Given the description of an element on the screen output the (x, y) to click on. 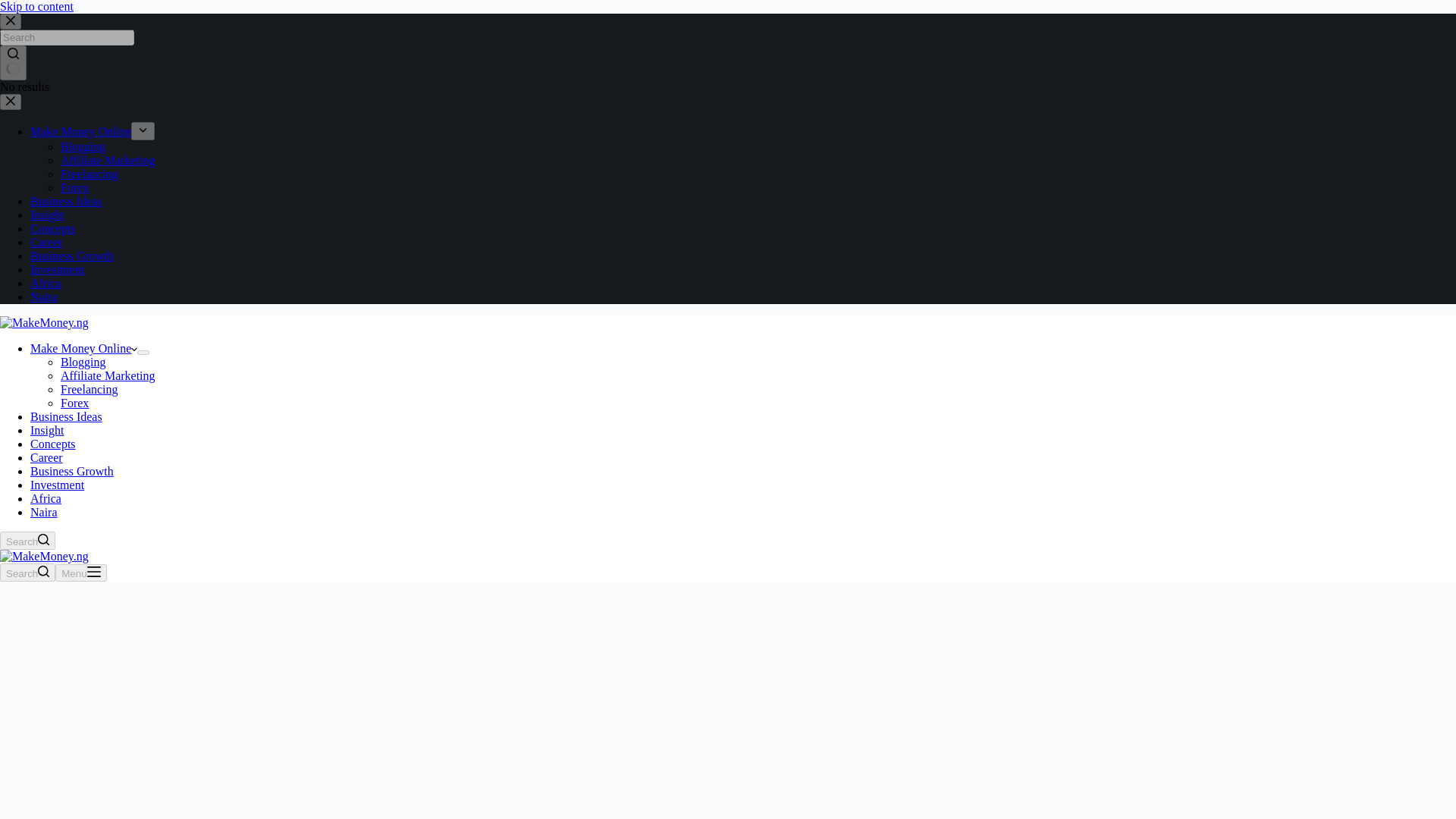
Business Growth (71, 471)
Concepts (52, 443)
Menu (80, 572)
Naira (44, 296)
Freelancing (89, 389)
Make Money Online (83, 348)
Business Ideas (65, 201)
Affiliate Marketing (108, 160)
Business Ideas (65, 416)
Investment (57, 269)
Insight (47, 214)
Naira (44, 512)
Forex (74, 187)
Business Growth (71, 255)
Investment (57, 484)
